Given the description of an element on the screen output the (x, y) to click on. 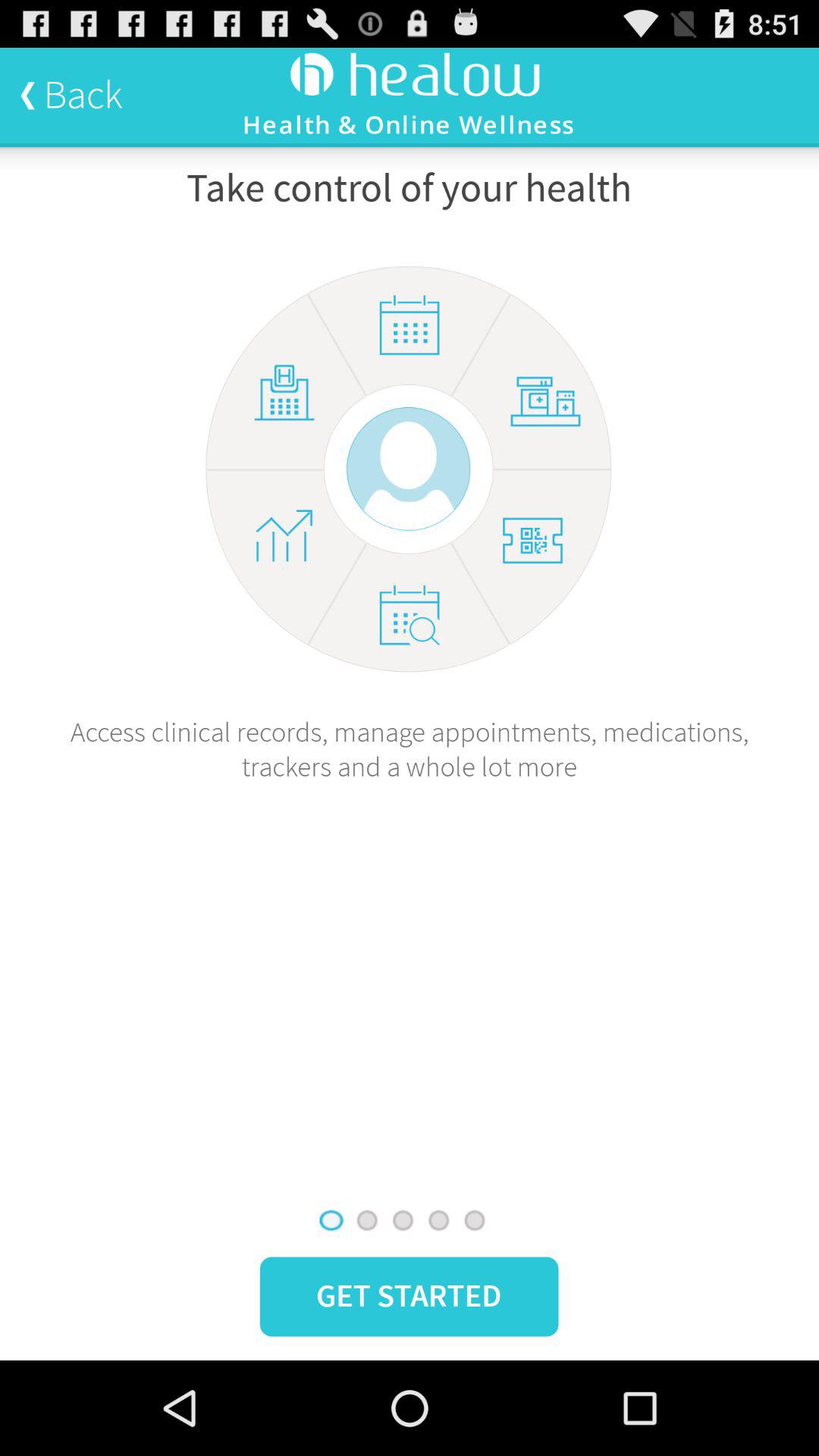
turn on the icon at the top left corner (70, 95)
